Given the description of an element on the screen output the (x, y) to click on. 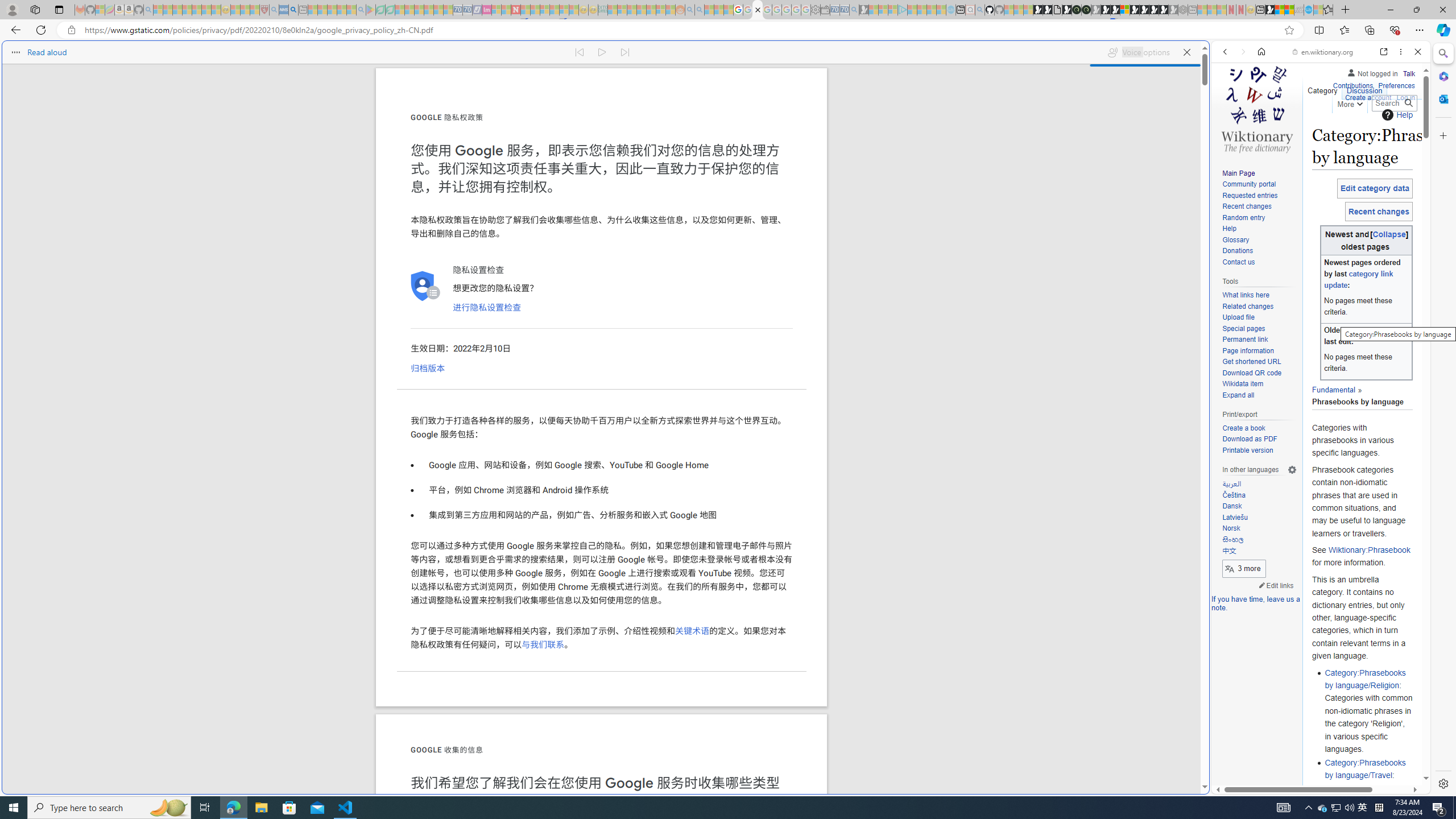
Edit category data (1374, 188)
Requested entries (1249, 194)
Contributions (1352, 85)
Services - Maintenance | Sky Blue Bikes - Sky Blue Bikes (1307, 9)
